Given the description of an element on the screen output the (x, y) to click on. 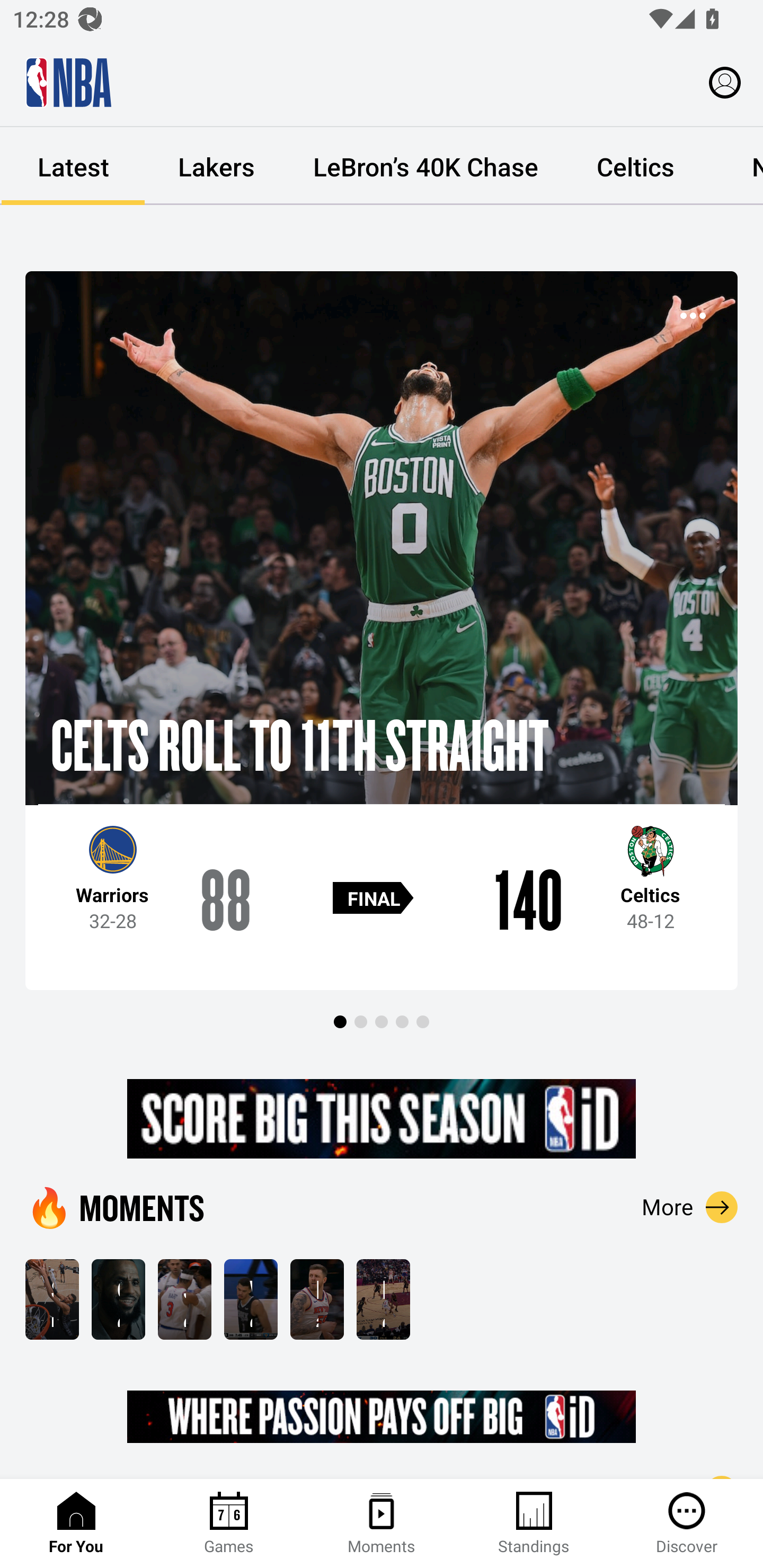
Profile (724, 81)
Lakers (215, 166)
LeBron’s 40K Chase (425, 166)
Celtics (634, 166)
More (689, 1207)
Sunday's Top Plays In 30 Seconds ⏱ (51, 1299)
Hartenstein Drops The Hammer 🔨 (317, 1299)
Games (228, 1523)
Moments (381, 1523)
Standings (533, 1523)
Discover (686, 1523)
